Given the description of an element on the screen output the (x, y) to click on. 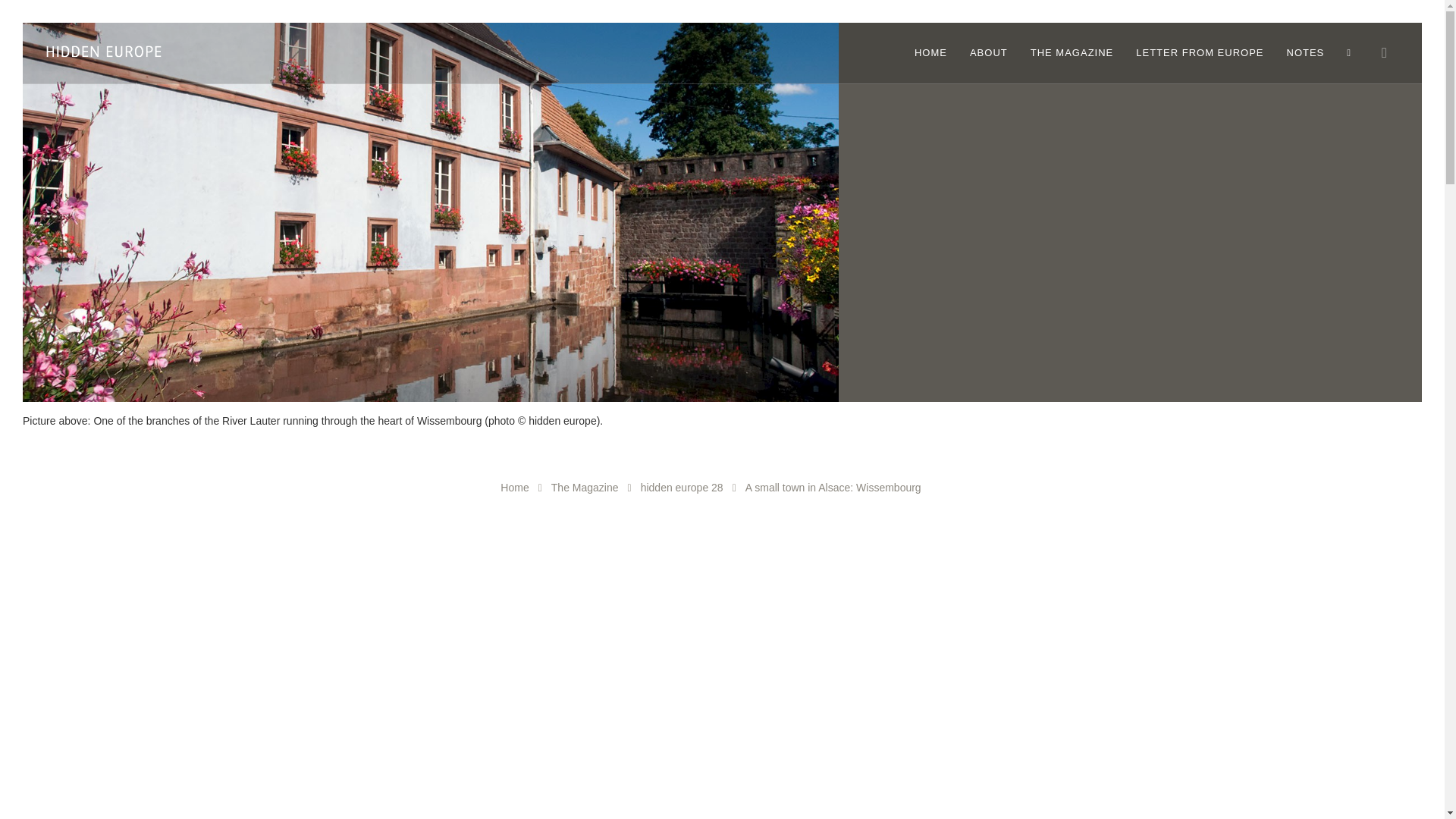
hidden europe 28 (681, 487)
Home (514, 487)
THE MAGAZINE (1071, 52)
LETTER FROM EUROPE (1199, 52)
The Magazine (584, 487)
